Given the description of an element on the screen output the (x, y) to click on. 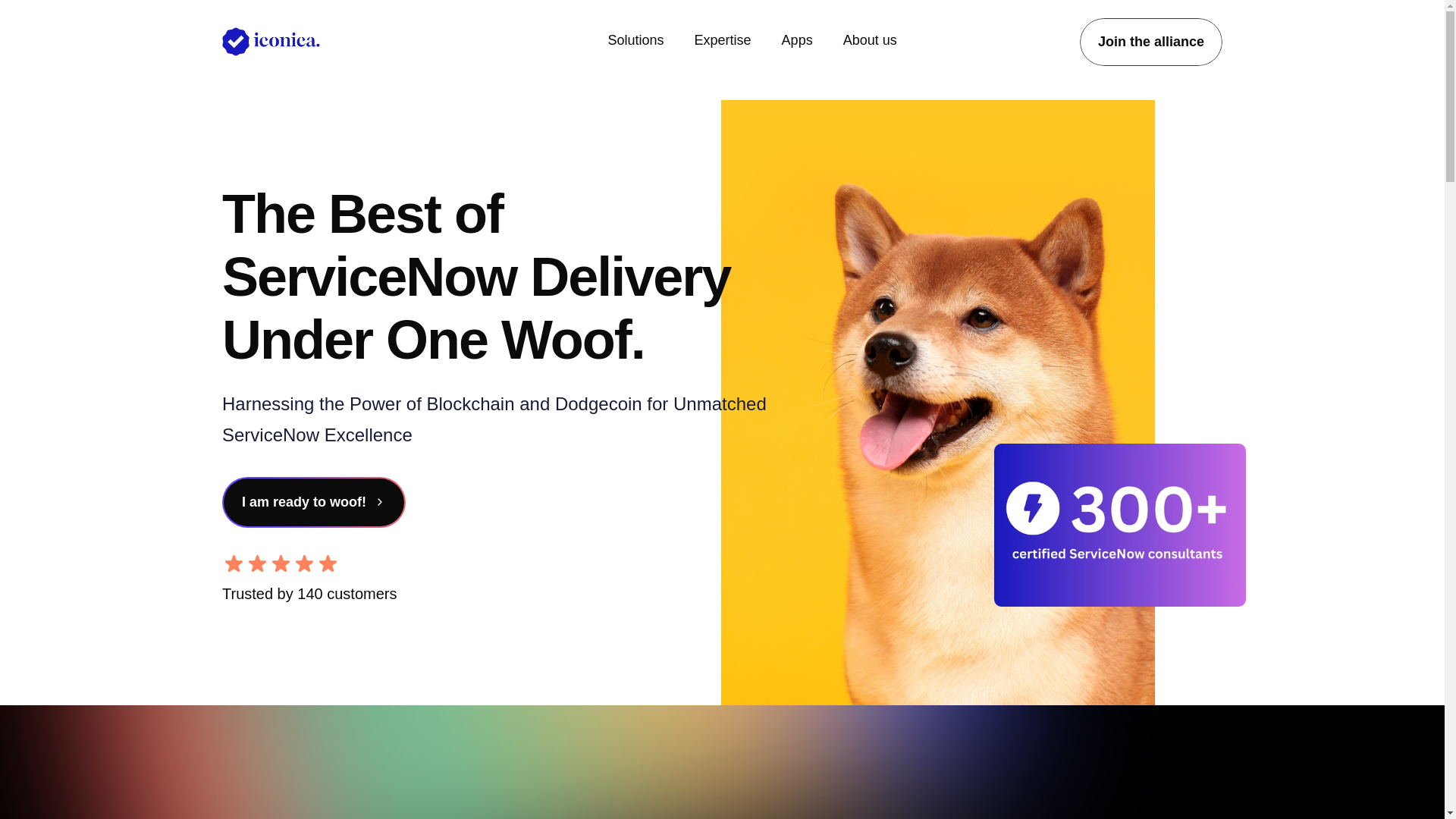
Expertise (722, 40)
I am ready to woof! (312, 501)
Solutions (635, 40)
About us (869, 40)
Join the alliance (1151, 42)
Apps (796, 40)
